Given the description of an element on the screen output the (x, y) to click on. 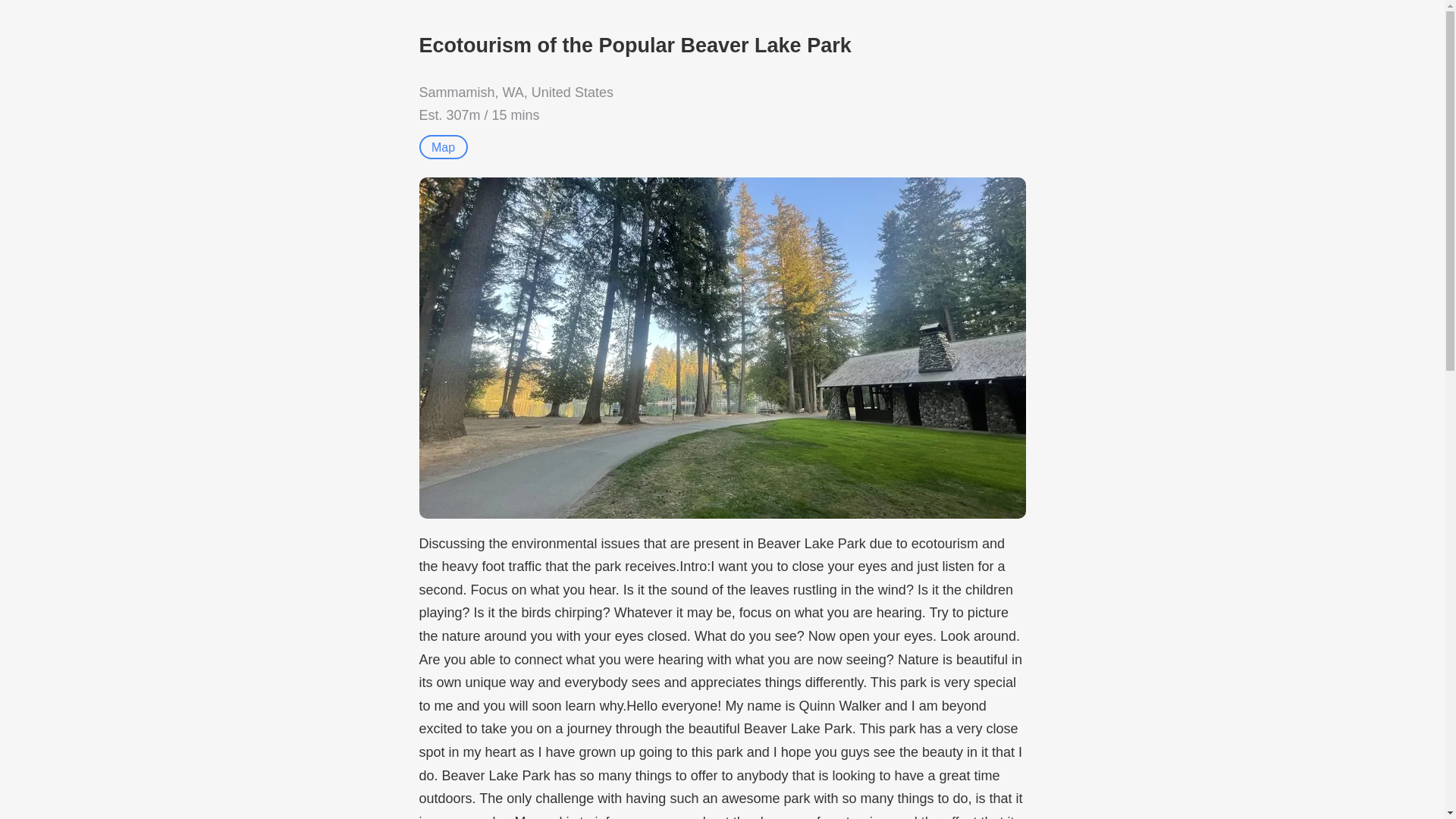
Map (442, 146)
